Given the description of an element on the screen output the (x, y) to click on. 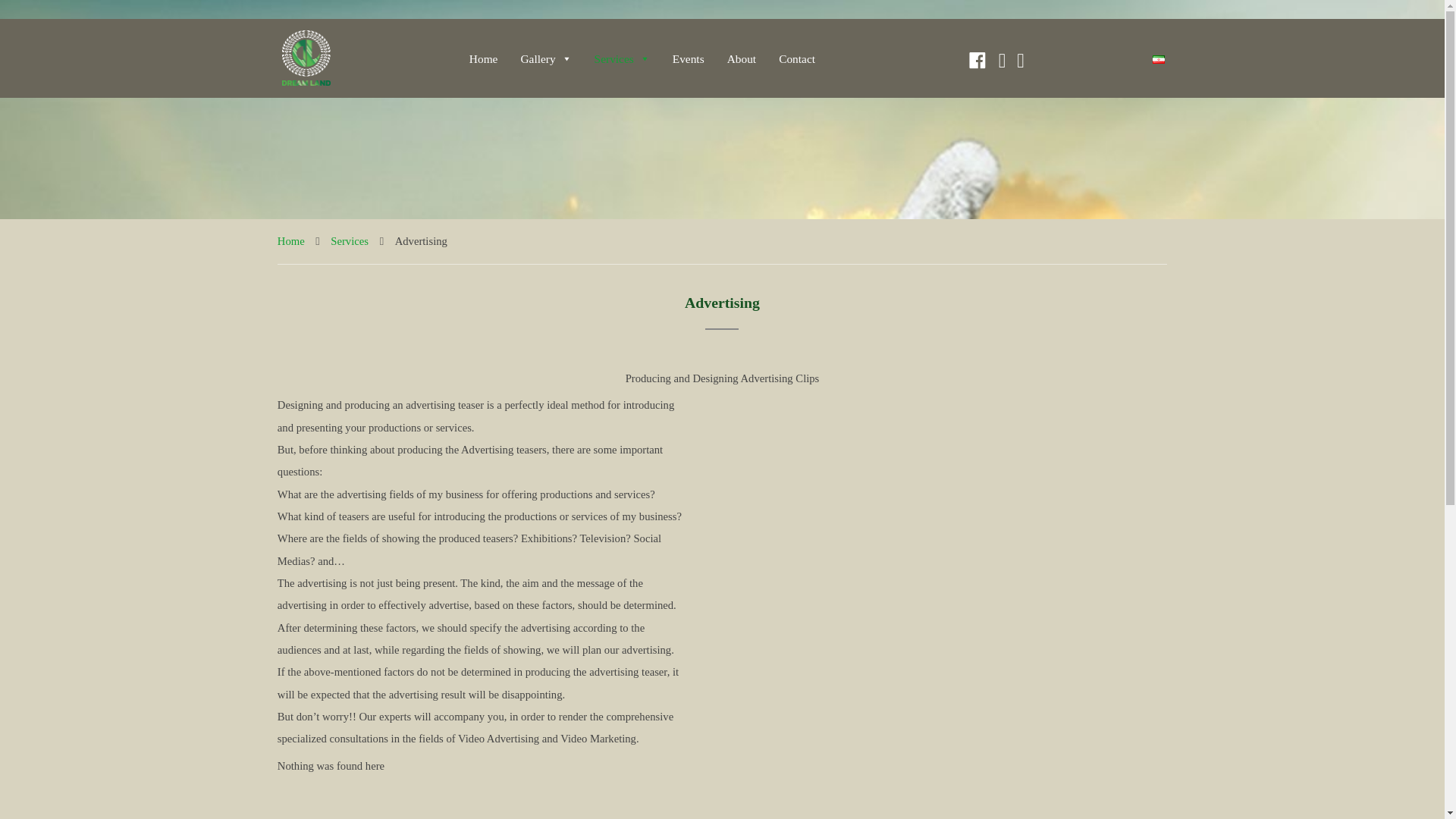
Services (349, 241)
Contact (796, 58)
Services (622, 58)
Home (291, 241)
Gallery (545, 58)
Go to Dream Land. (291, 241)
Go to the Services category archives. (349, 241)
